Given the description of an element on the screen output the (x, y) to click on. 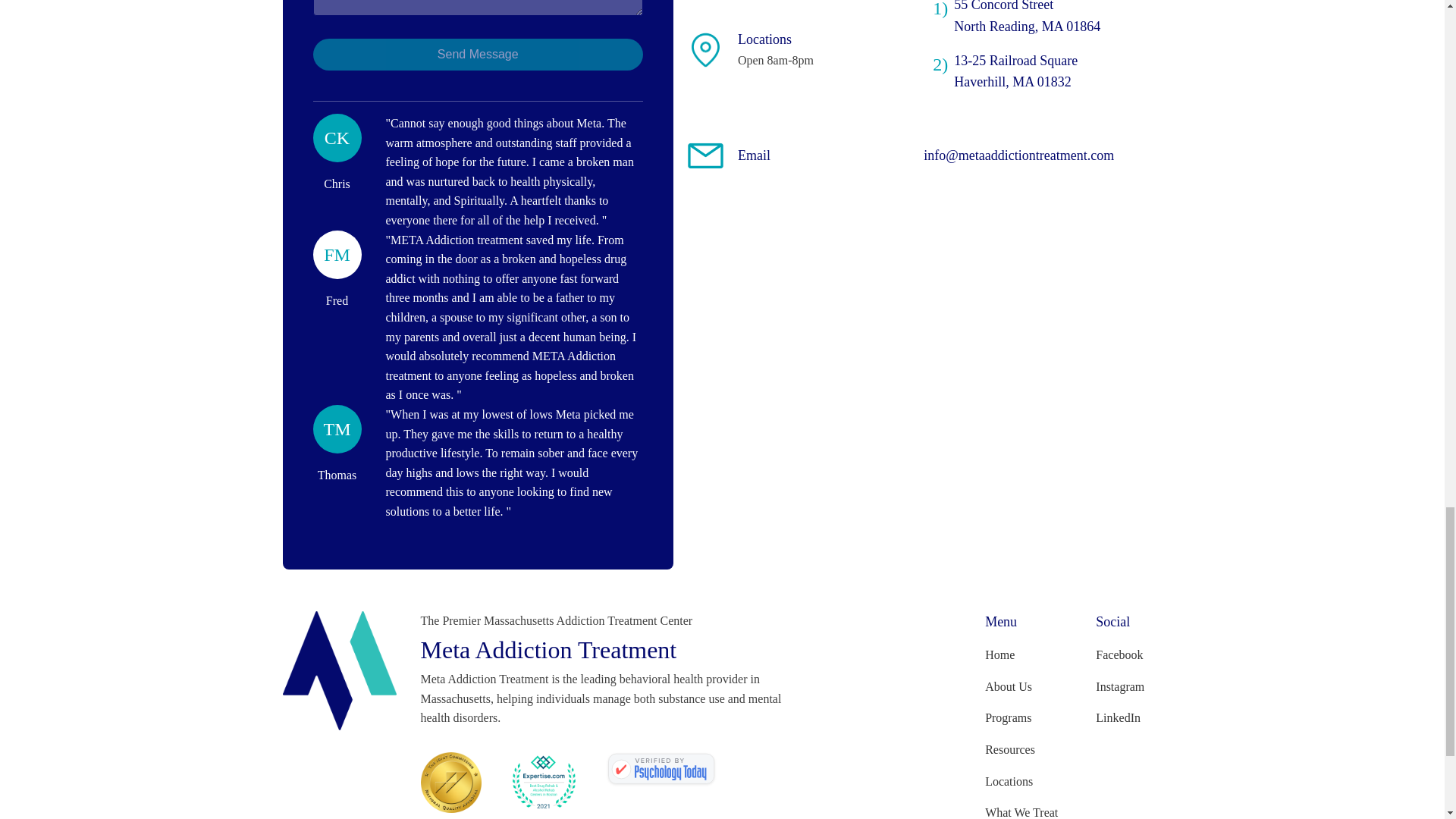
Meta Addiction Treatment (660, 769)
Send Message (477, 54)
